Given the description of an element on the screen output the (x, y) to click on. 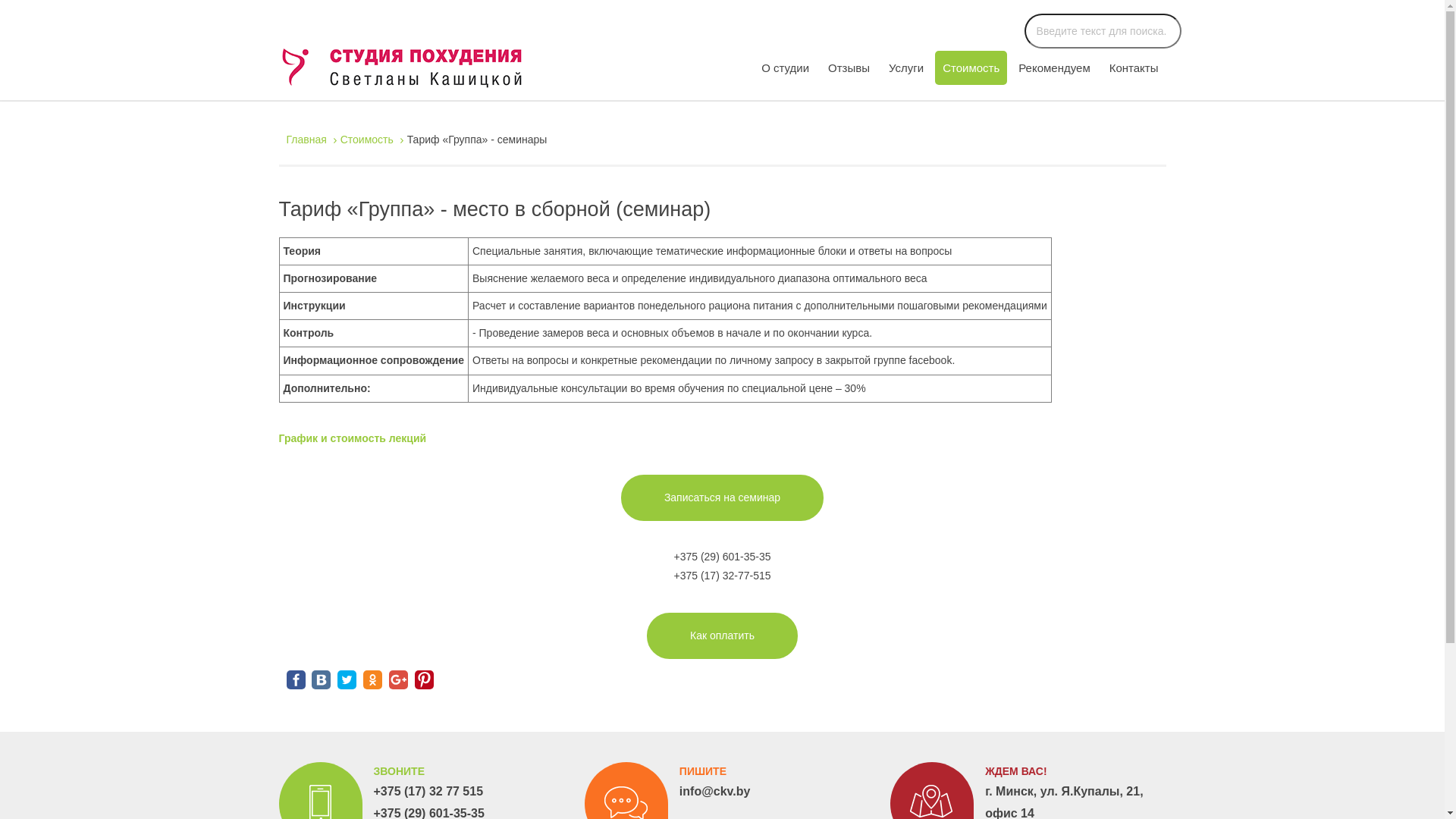
Pinterest Element type: hover (423, 679)
Google+ Element type: hover (398, 679)
Twitter Element type: hover (346, 679)
FaceBook Element type: hover (295, 679)
